Given the description of an element on the screen output the (x, y) to click on. 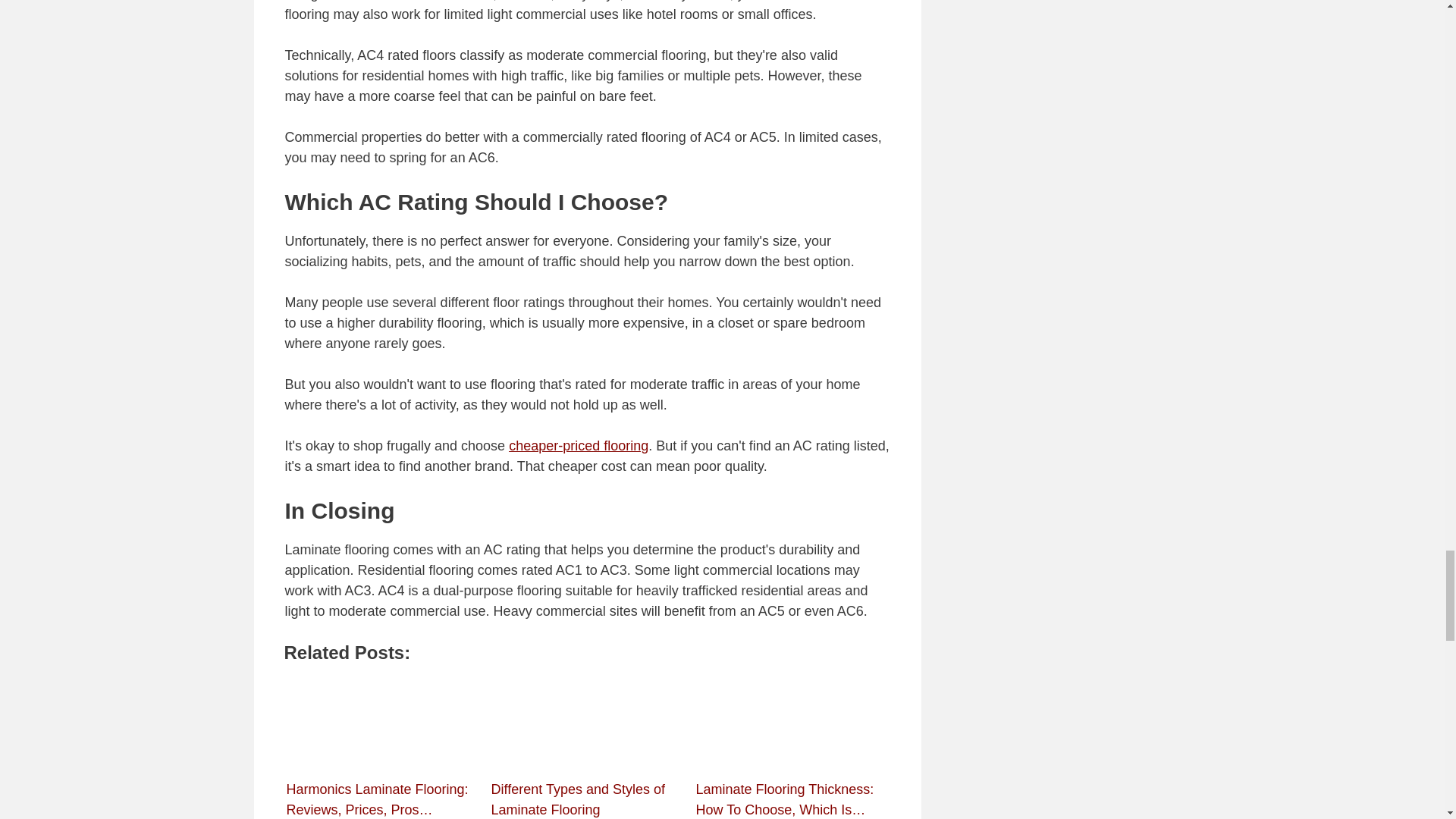
Different Types and Styles of Laminate Flooring (587, 712)
